Given the description of an element on the screen output the (x, y) to click on. 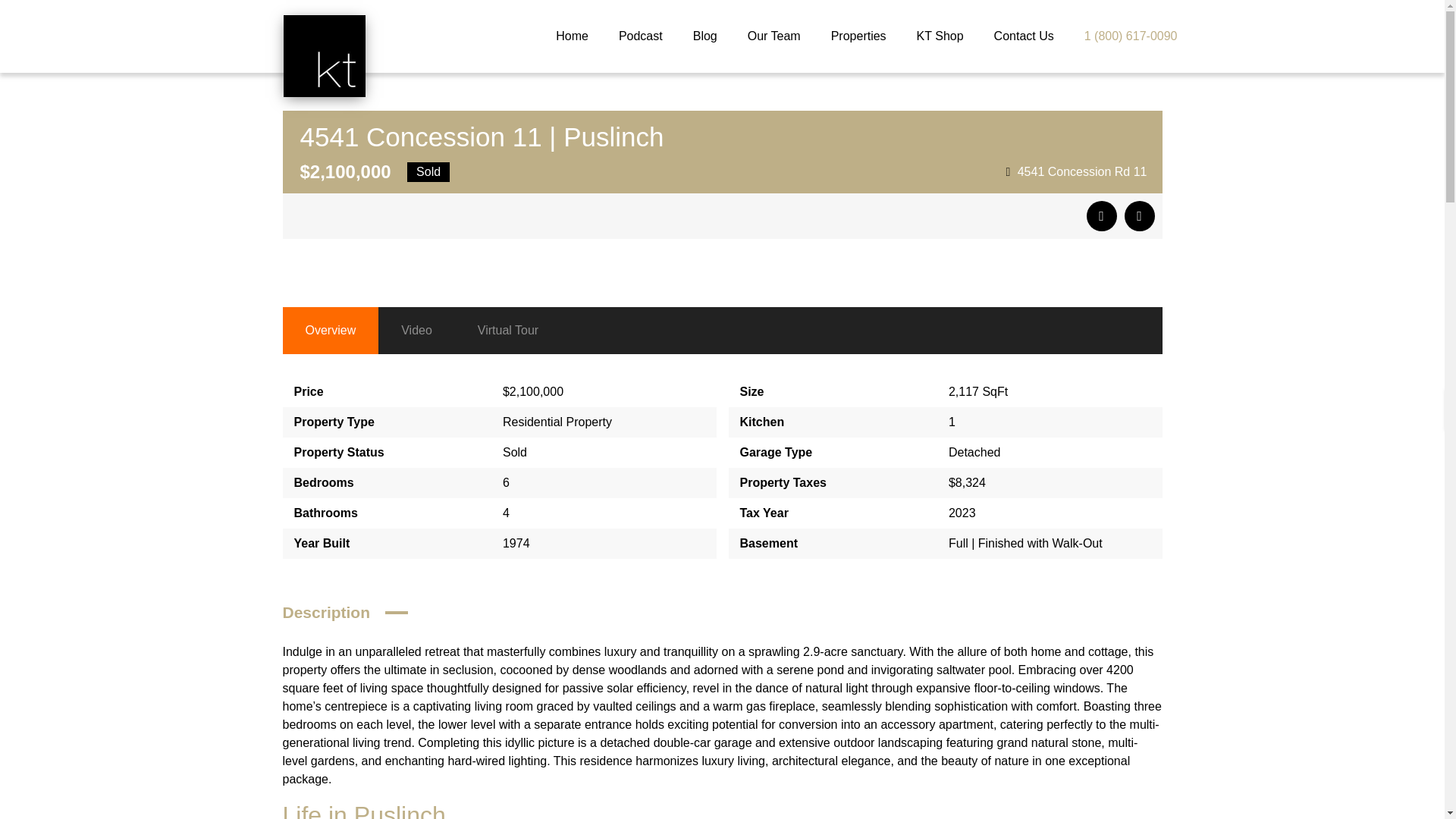
Podcast (640, 35)
KT Shop (940, 35)
Properties (858, 35)
Home (572, 35)
Contact Us (1024, 35)
Our Team (774, 35)
Blog (705, 35)
4541 Concession Rd 11 (1082, 171)
4541 Concession Rd 11 (1076, 171)
